Given the description of an element on the screen output the (x, y) to click on. 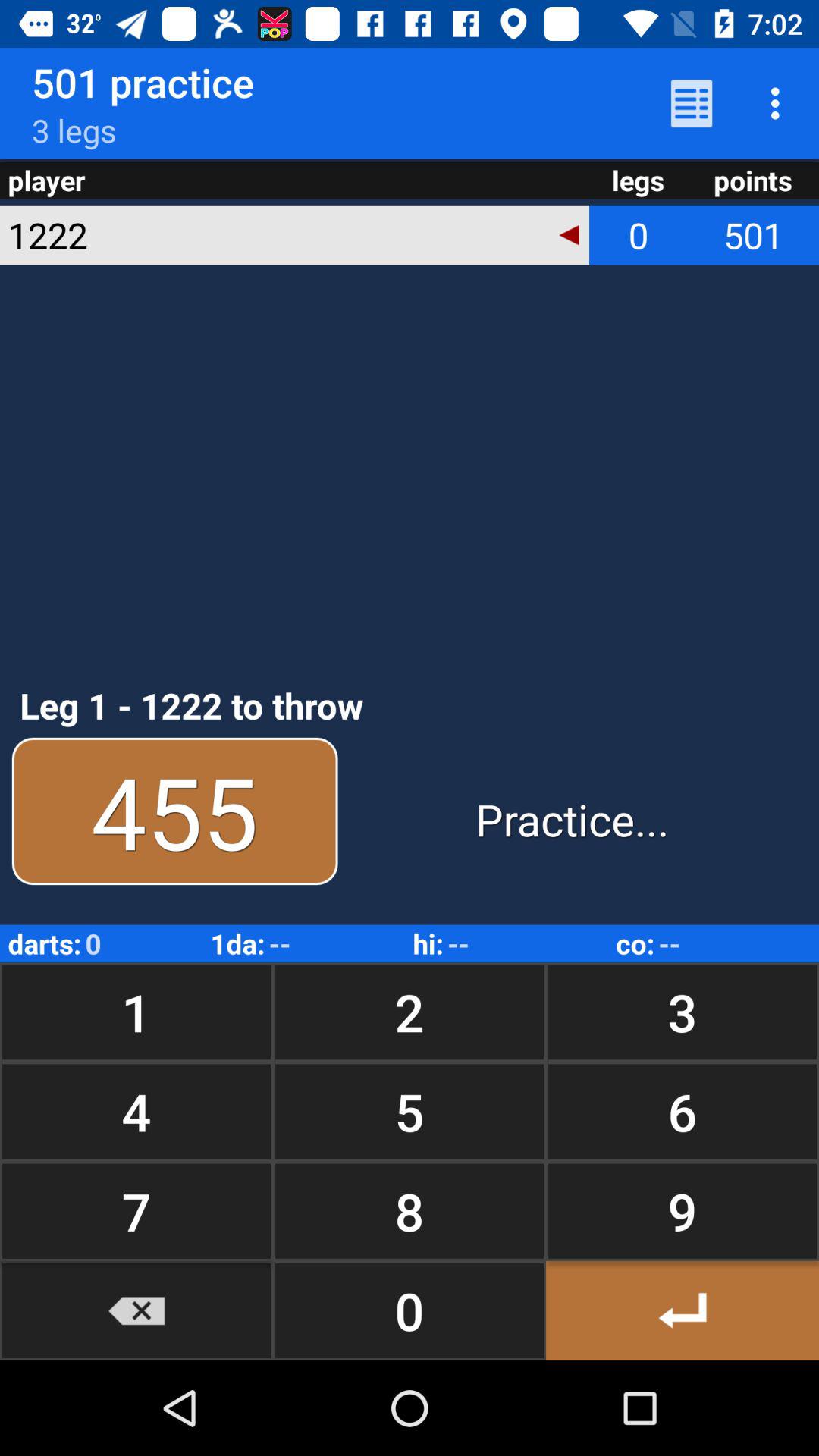
select the icon below 1 button (409, 1111)
